Given the description of an element on the screen output the (x, y) to click on. 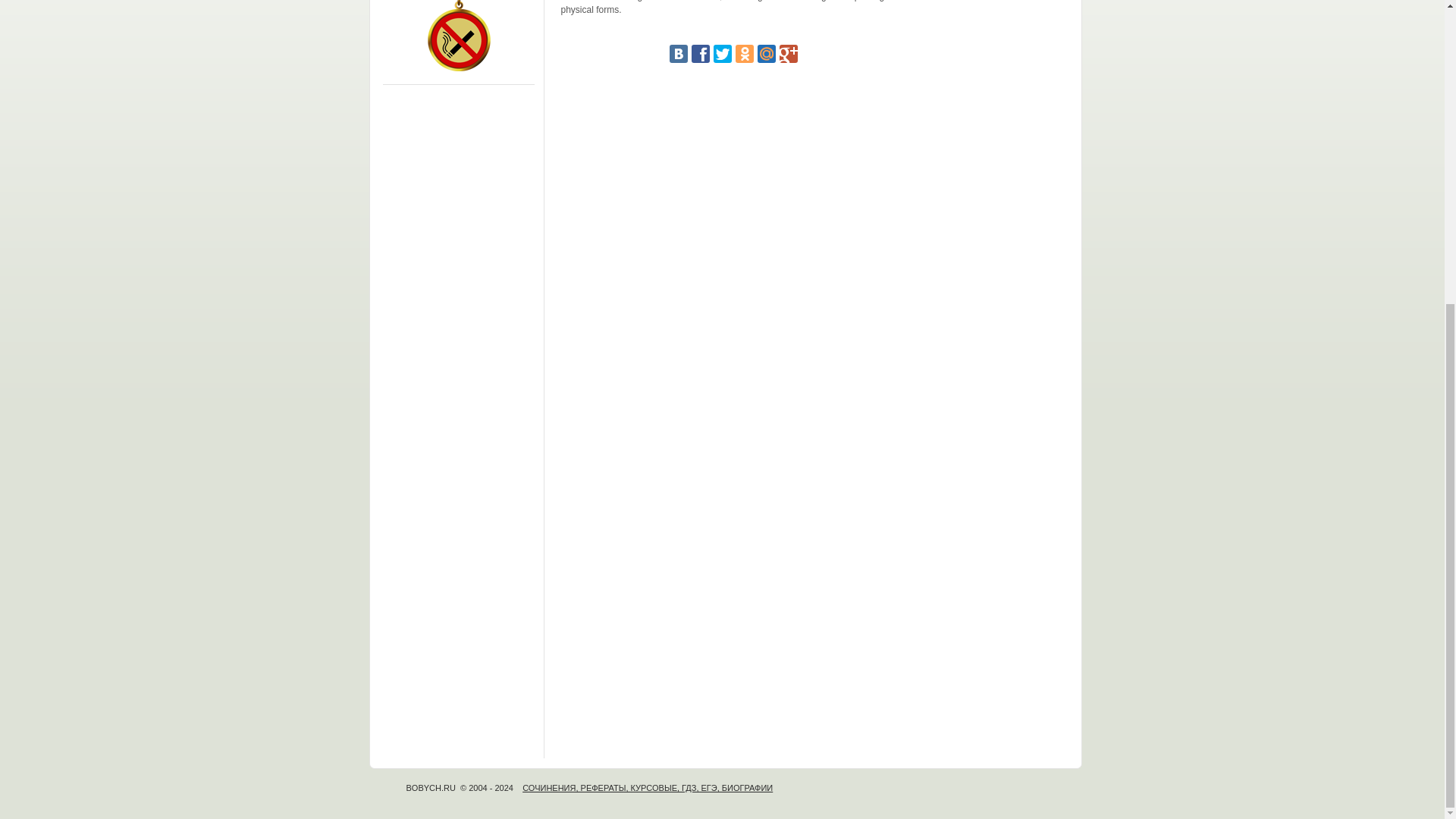
Facebook (700, 54)
Google Plus (787, 54)
Twitter (722, 54)
Advertisement (732, 196)
